Given the description of an element on the screen output the (x, y) to click on. 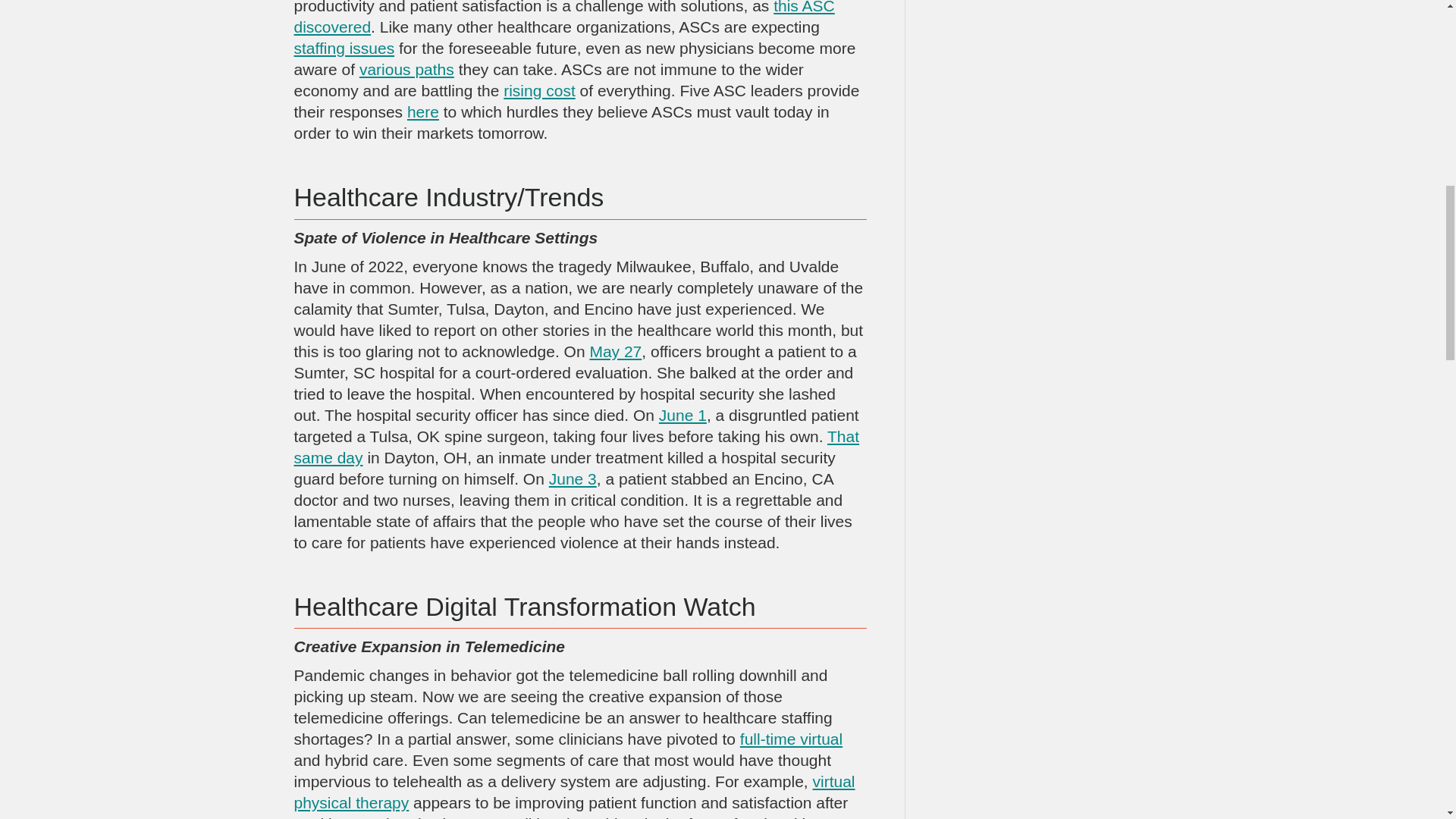
June 3 (572, 478)
That same day (577, 446)
rising cost (539, 90)
full-time virtual (791, 738)
here (423, 111)
this ASC discovered (564, 18)
June 1 (682, 415)
various paths (406, 68)
staffing issues (344, 47)
virtual physical therapy (575, 792)
May 27 (615, 351)
